Given the description of an element on the screen output the (x, y) to click on. 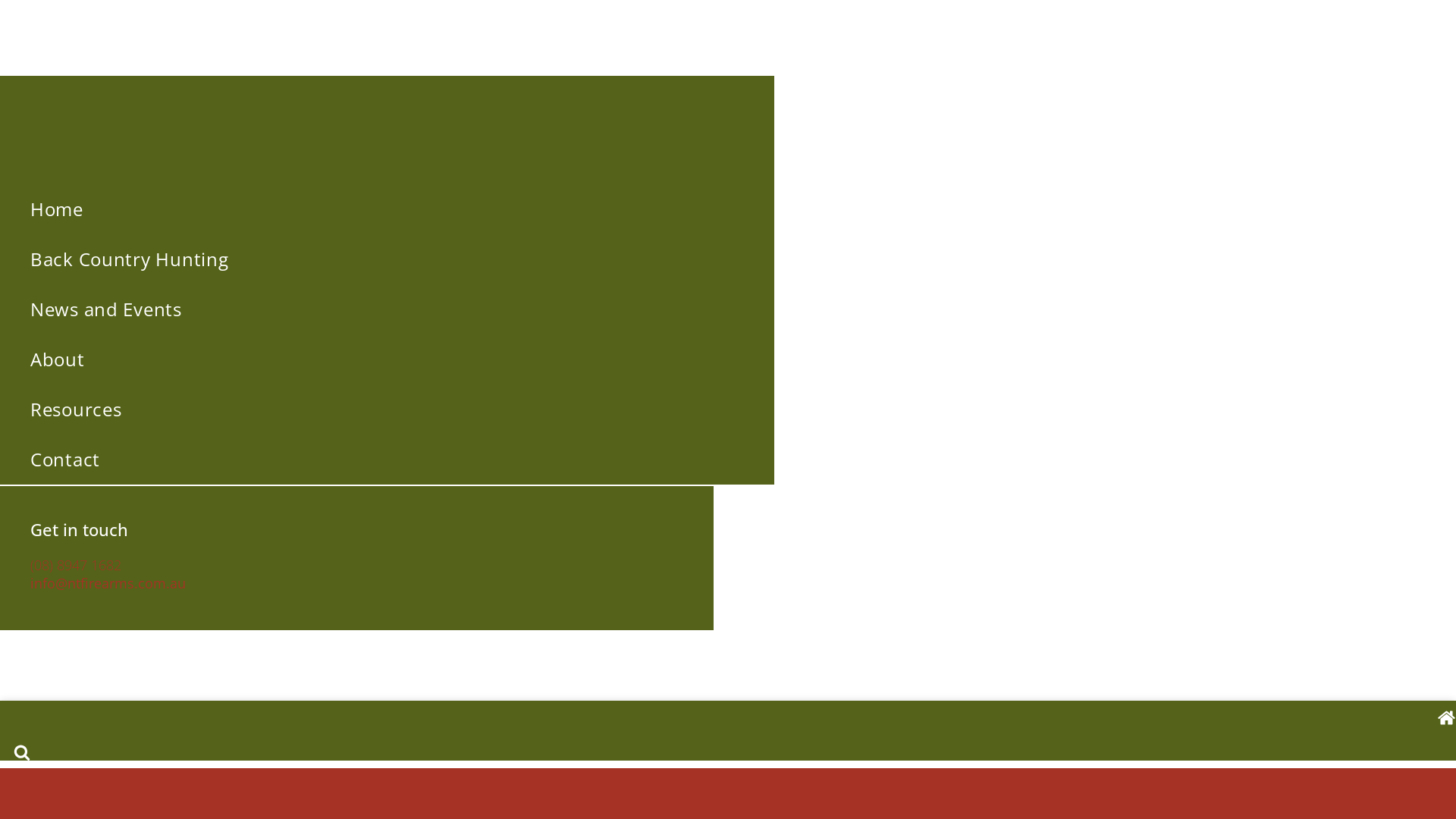
Home Element type: text (386, 209)
Contact Element type: text (386, 459)
News and Events Element type: text (386, 309)
About Element type: text (386, 359)
info@ntfirearms.com.au Element type: text (107, 583)
Resources Element type: text (386, 409)
Back Country Hunting Element type: text (386, 259)
(08) 8947 1682 Element type: text (75, 564)
